Given the description of an element on the screen output the (x, y) to click on. 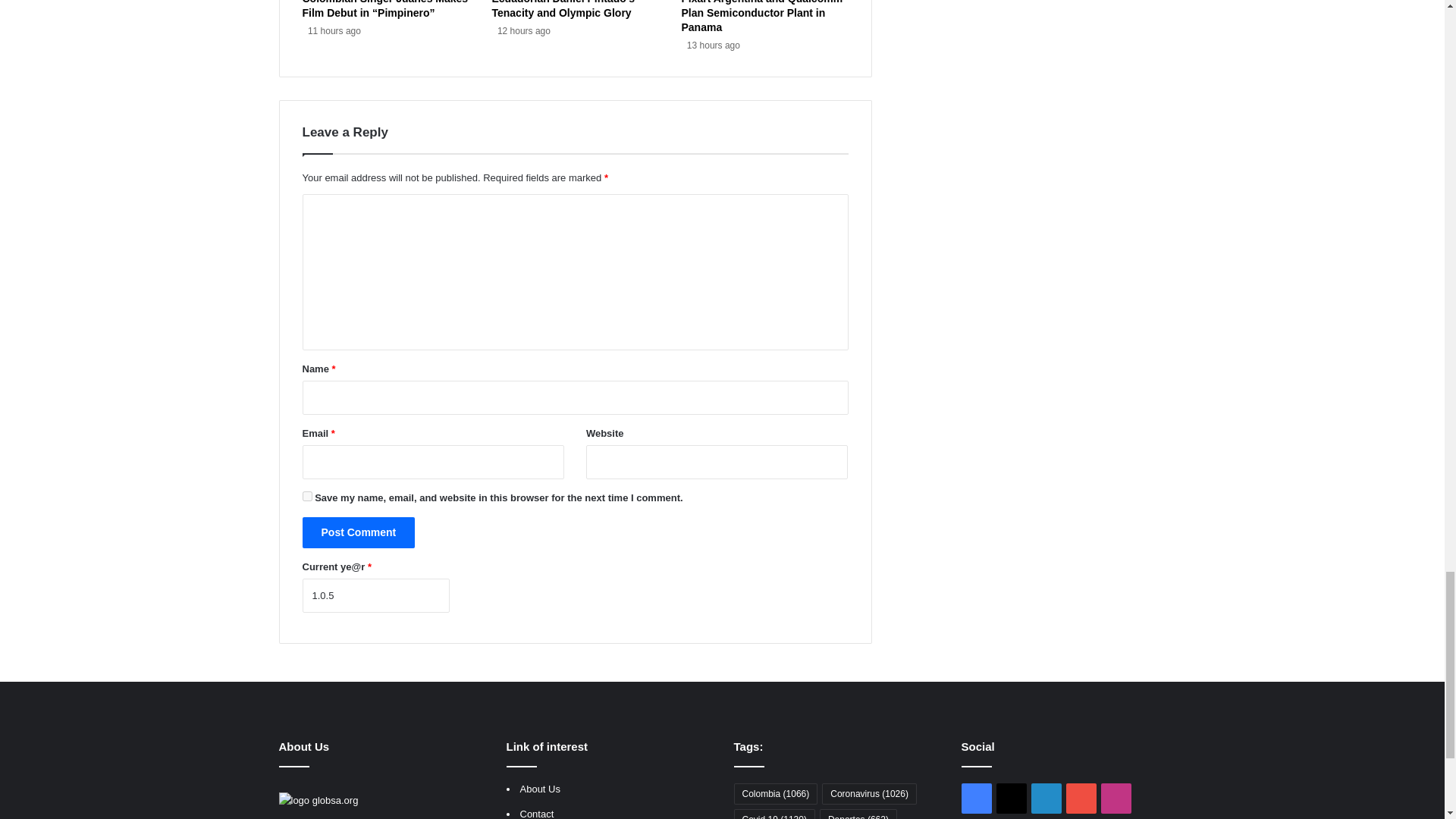
Post Comment (357, 531)
yes (306, 496)
1.0.5 (374, 595)
